Given the description of an element on the screen output the (x, y) to click on. 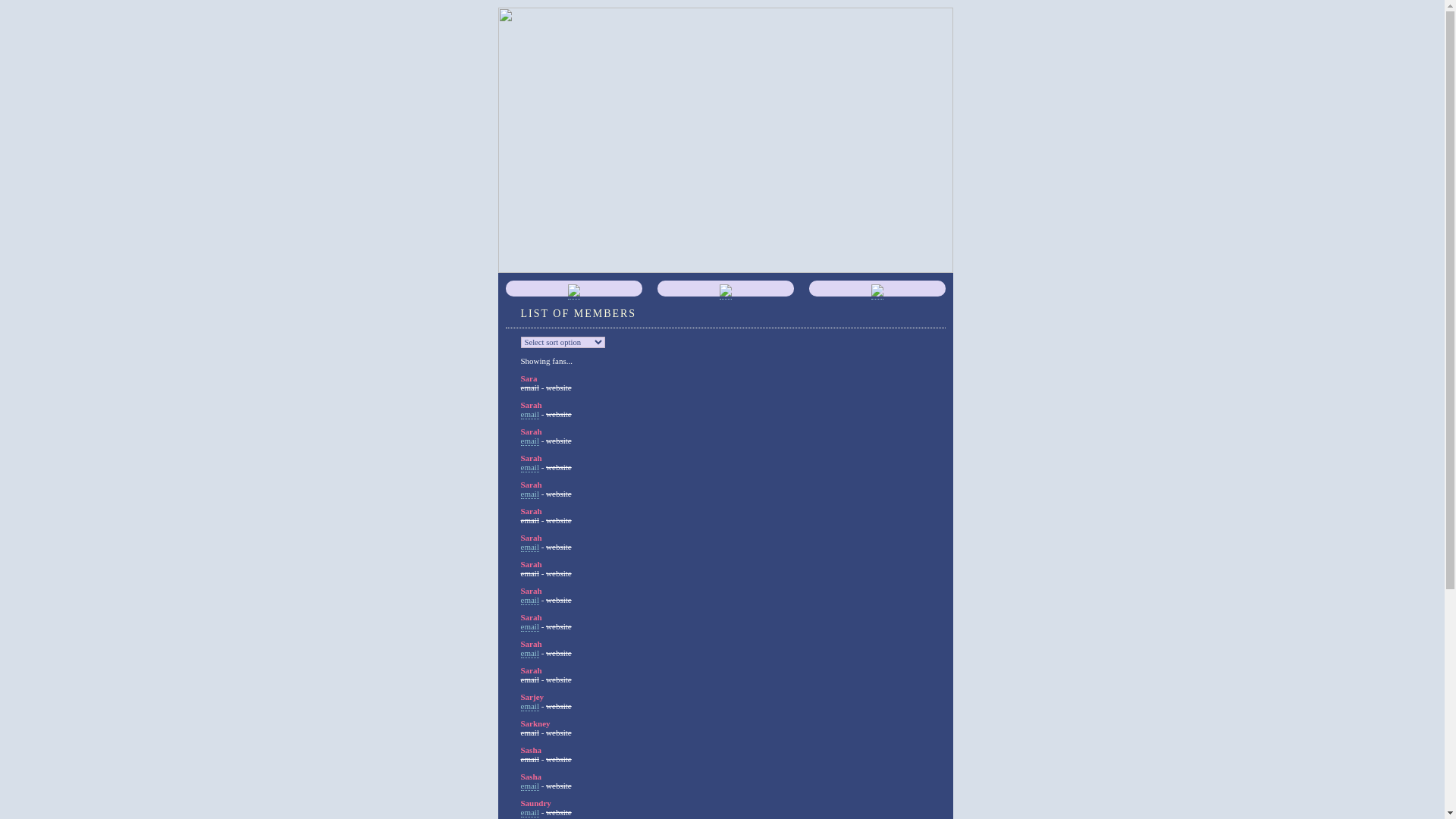
email Element type: text (529, 440)
email Element type: text (529, 785)
email Element type: text (529, 626)
email Element type: text (529, 493)
email Element type: text (529, 547)
email Element type: text (529, 600)
email Element type: text (529, 812)
email Element type: text (529, 653)
email Element type: text (529, 706)
email Element type: text (529, 414)
email Element type: text (529, 467)
